Given the description of an element on the screen output the (x, y) to click on. 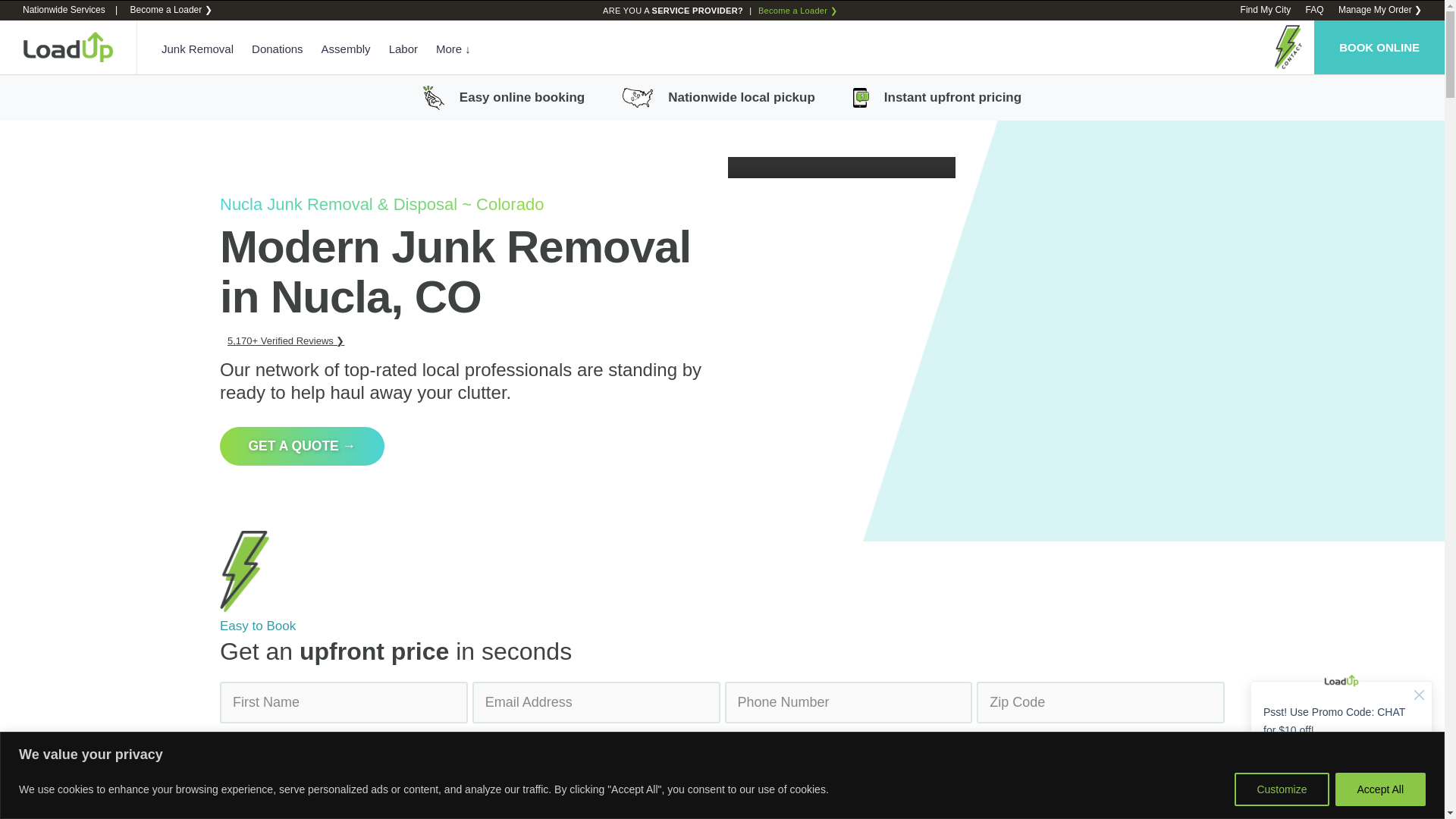
Customize (1280, 788)
View LoadUp Customer Reviews (285, 340)
Accept All (1380, 788)
Find My City (1265, 9)
Tracking My Order (1380, 9)
Become a Loader (170, 9)
Knowledge Base (1313, 9)
